Given the description of an element on the screen output the (x, y) to click on. 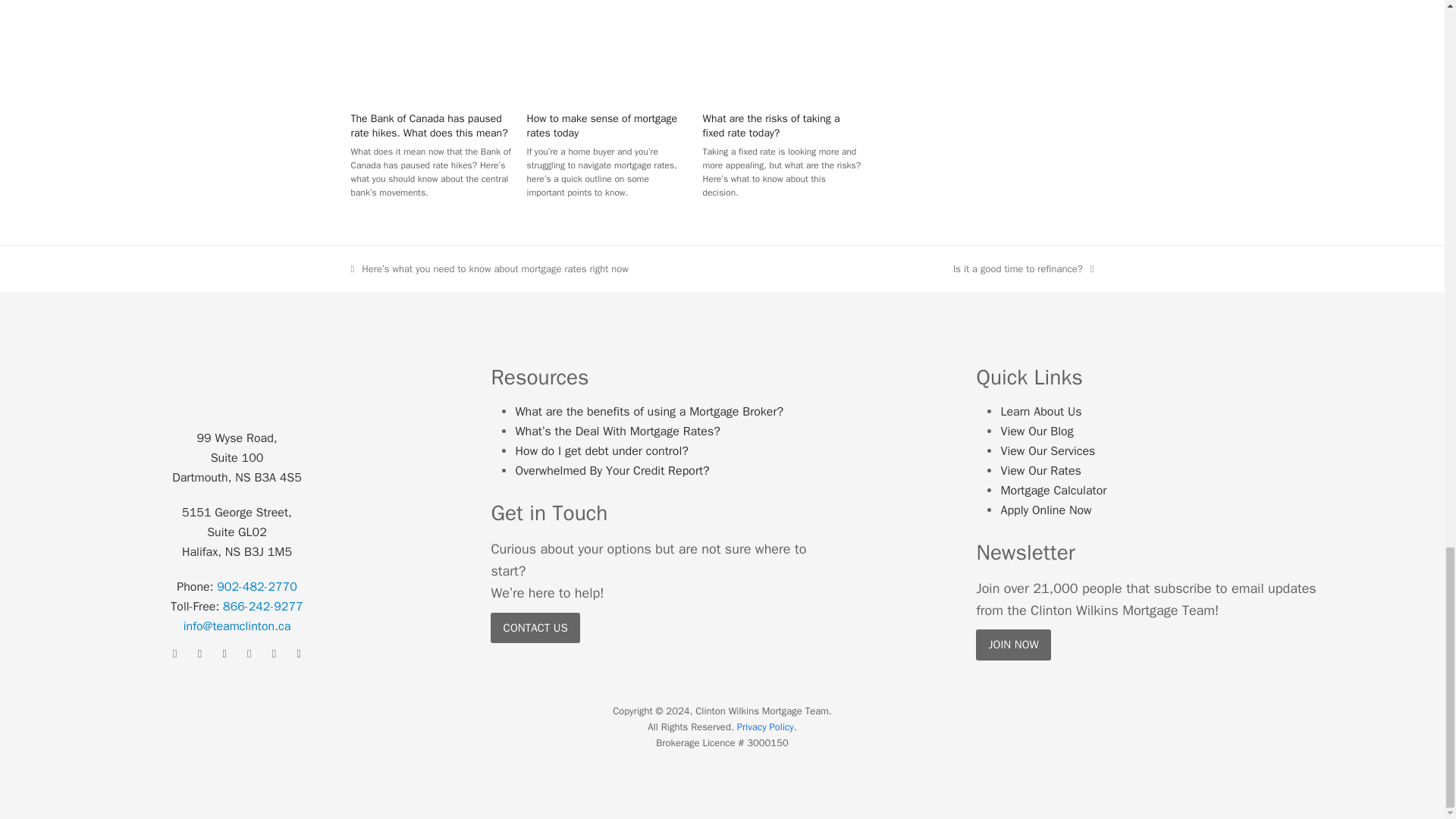
How to make sense of mortgage rates today (602, 125)
YouTube (274, 654)
What are the risks of taking a fixed rate today? (783, 45)
Instagram (200, 654)
Facebook (175, 654)
What are the risks of taking a fixed rate today? (771, 125)
Twitter (224, 654)
Spotify (298, 654)
How to make sense of mortgage rates today (607, 45)
